Given the description of an element on the screen output the (x, y) to click on. 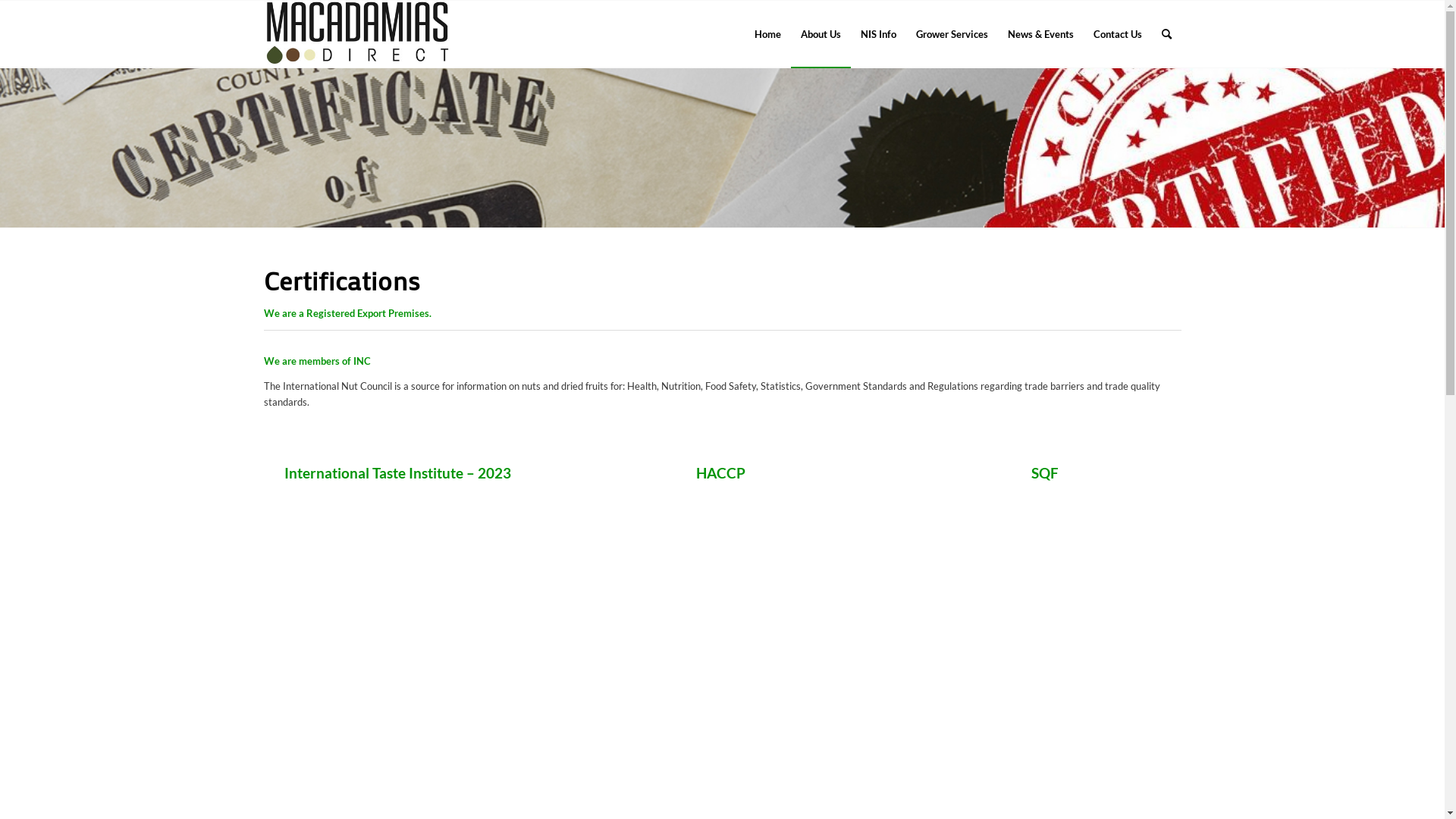
thin-macadamia-certificates Element type: hover (722, 146)
NIS Info Element type: text (878, 33)
Home Element type: text (767, 33)
About Us Element type: text (820, 33)
News & Events Element type: text (1040, 33)
Contact Us Element type: text (1116, 33)
macadamia direct logo small Element type: hover (358, 33)
Grower Services Element type: text (951, 33)
